Given the description of an element on the screen output the (x, y) to click on. 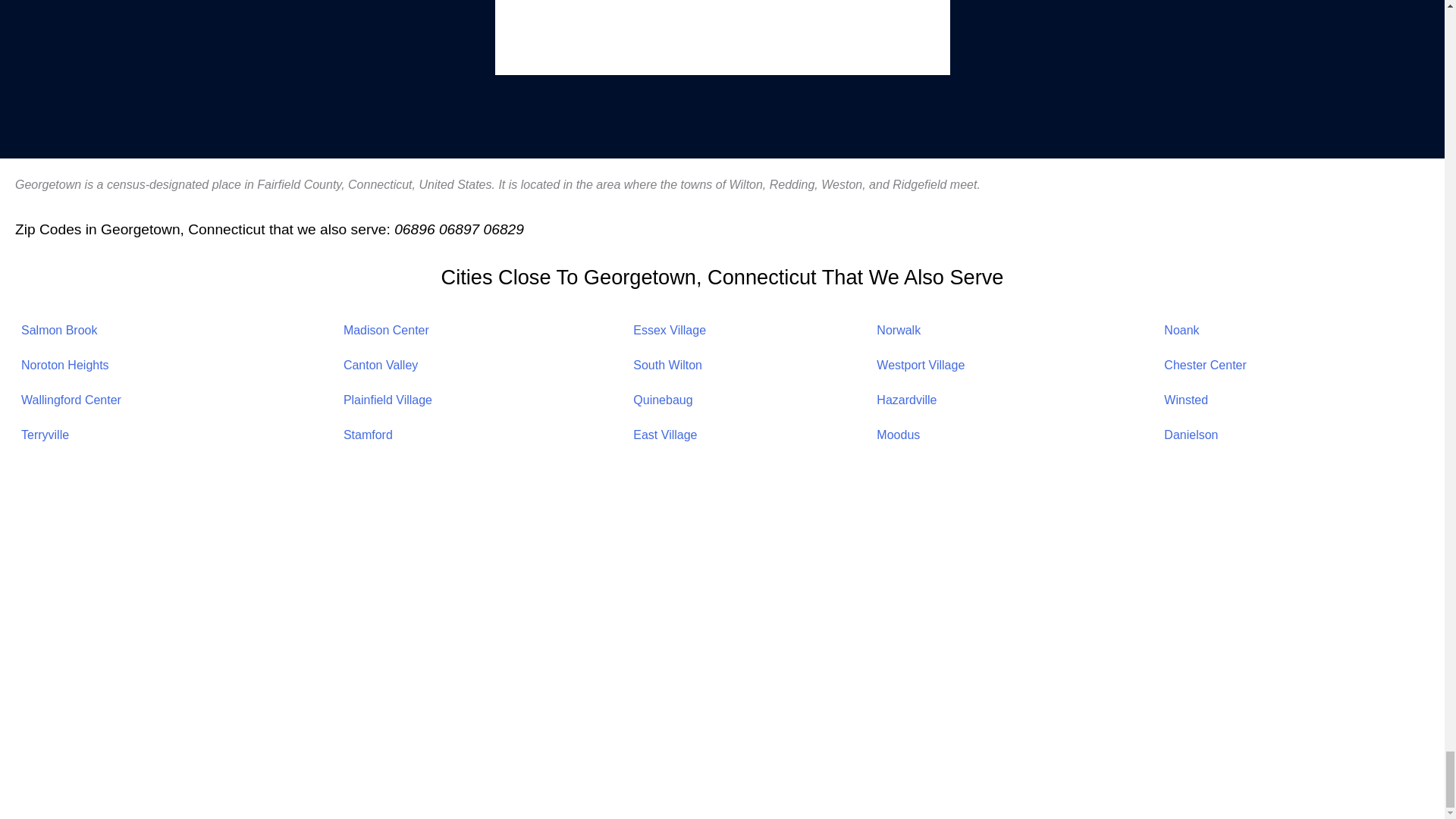
Essex Village (669, 329)
Norwalk (898, 329)
South Wilton (667, 364)
Noroton Heights (65, 364)
Noank (1180, 329)
Canton Valley (380, 364)
Salmon Brook (59, 329)
Madison Center (386, 329)
